Given the description of an element on the screen output the (x, y) to click on. 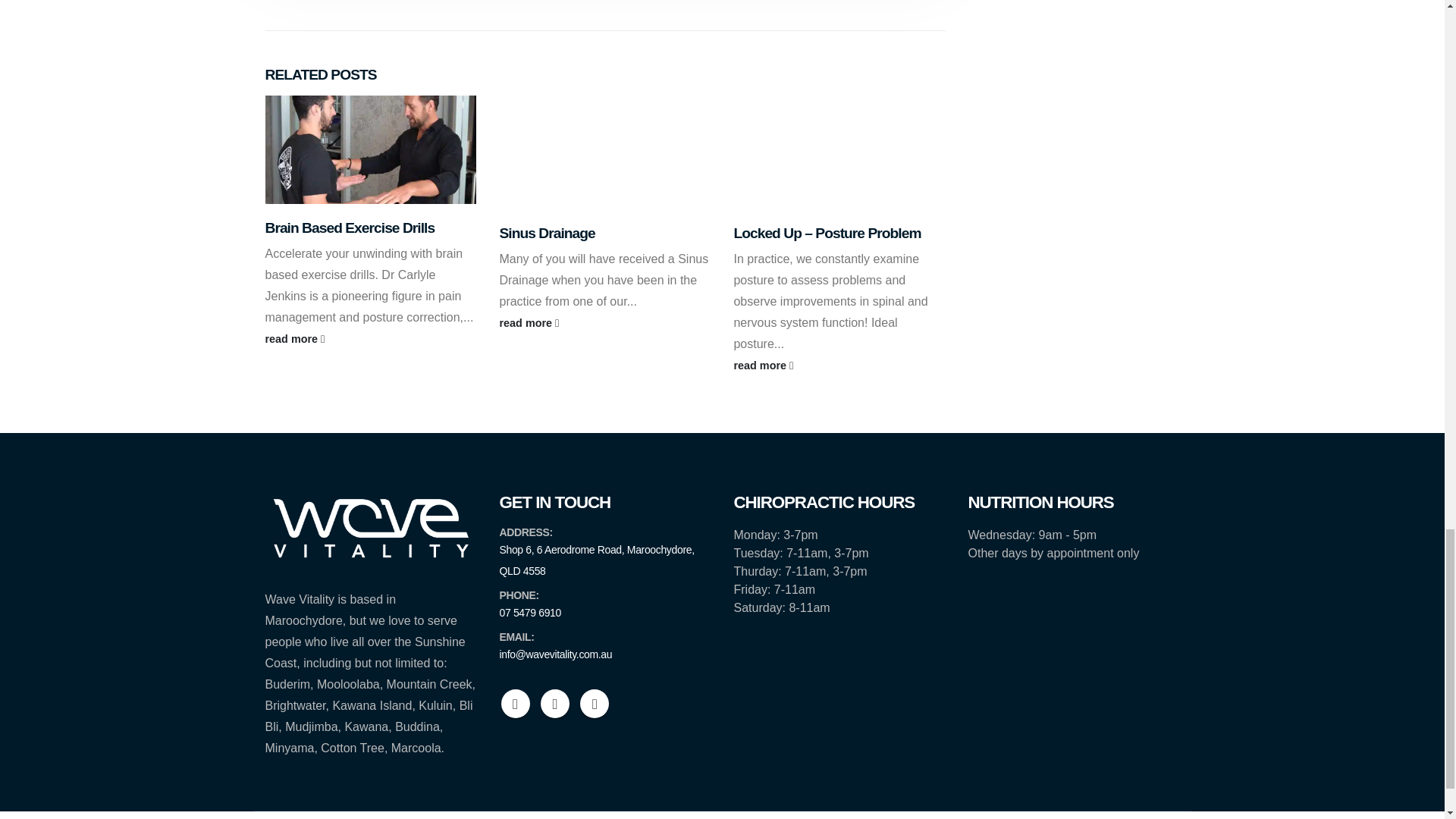
YouTube video player (838, 152)
YouTube video player (604, 152)
